Given the description of an element on the screen output the (x, y) to click on. 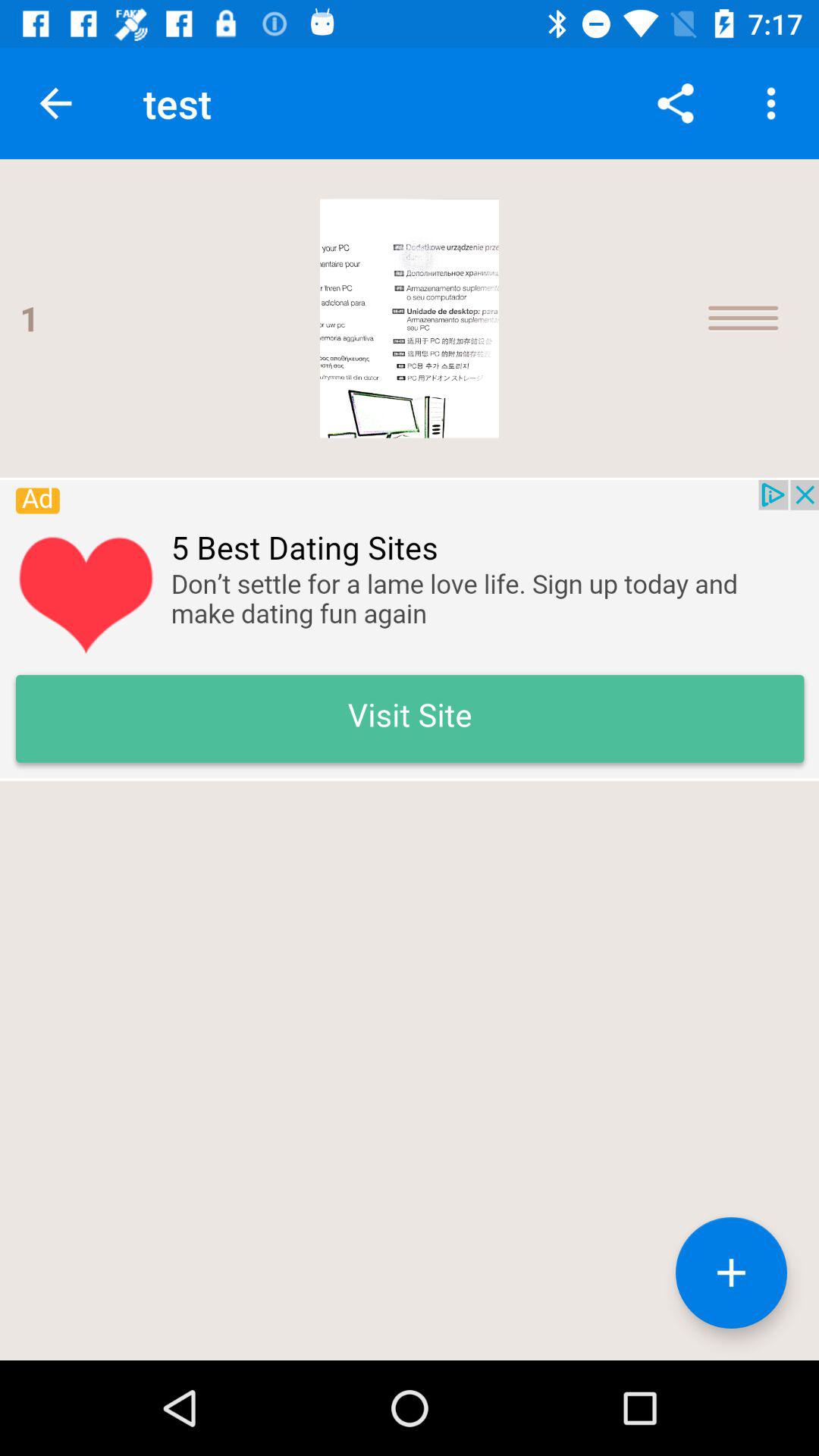
new document (731, 1272)
